Given the description of an element on the screen output the (x, y) to click on. 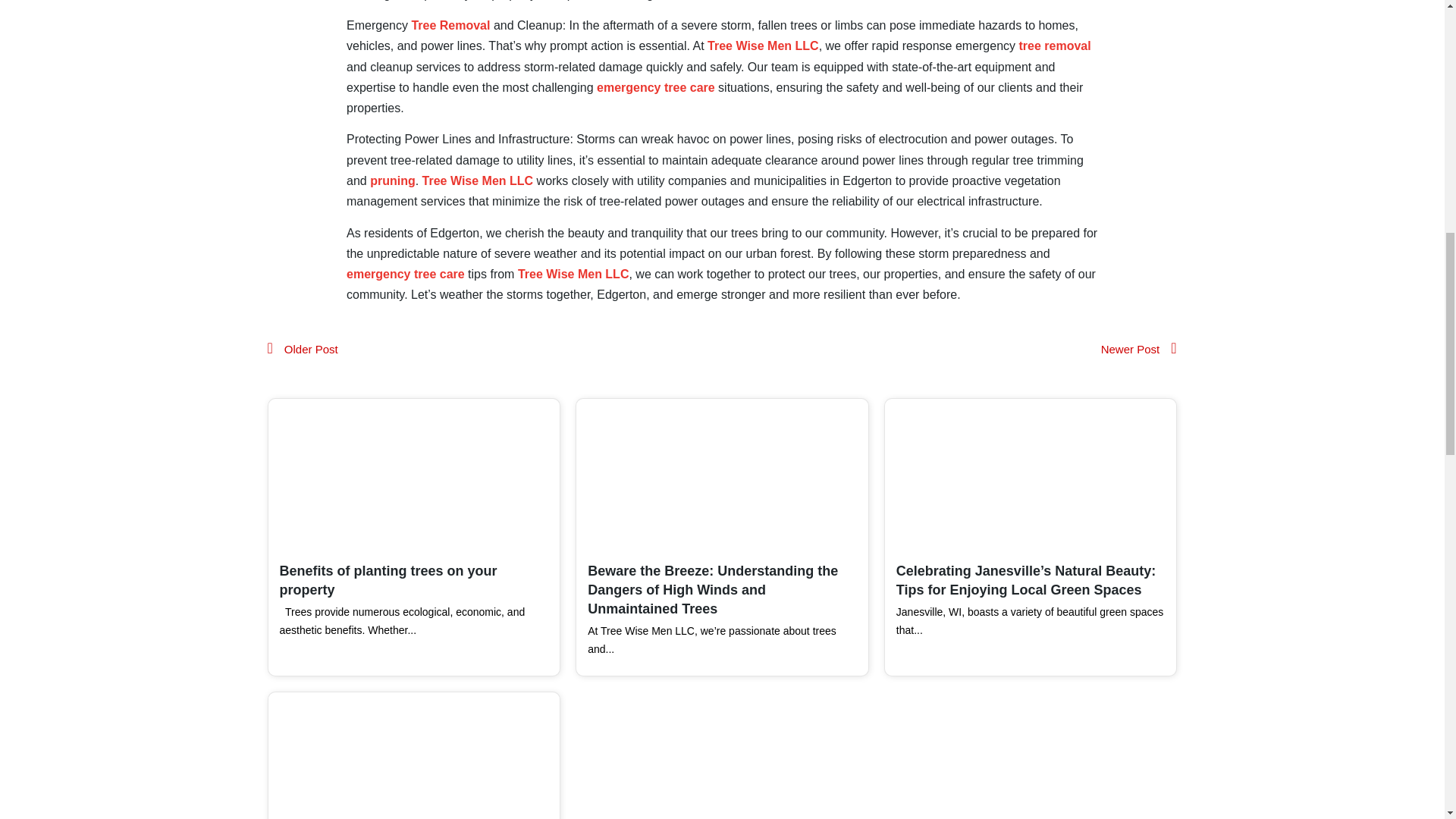
Tree Wise Men LLC (762, 45)
pruning (391, 180)
tree removal (1054, 45)
Benefits of planting trees on your property (387, 580)
emergency tree care (655, 87)
Tree Removal (449, 24)
